Given the description of an element on the screen output the (x, y) to click on. 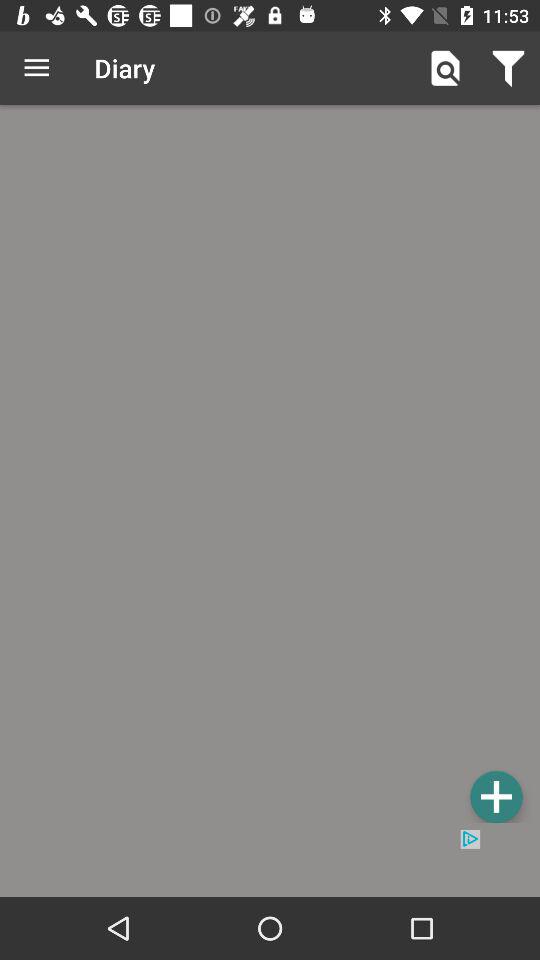
open new diary entry (496, 796)
